Given the description of an element on the screen output the (x, y) to click on. 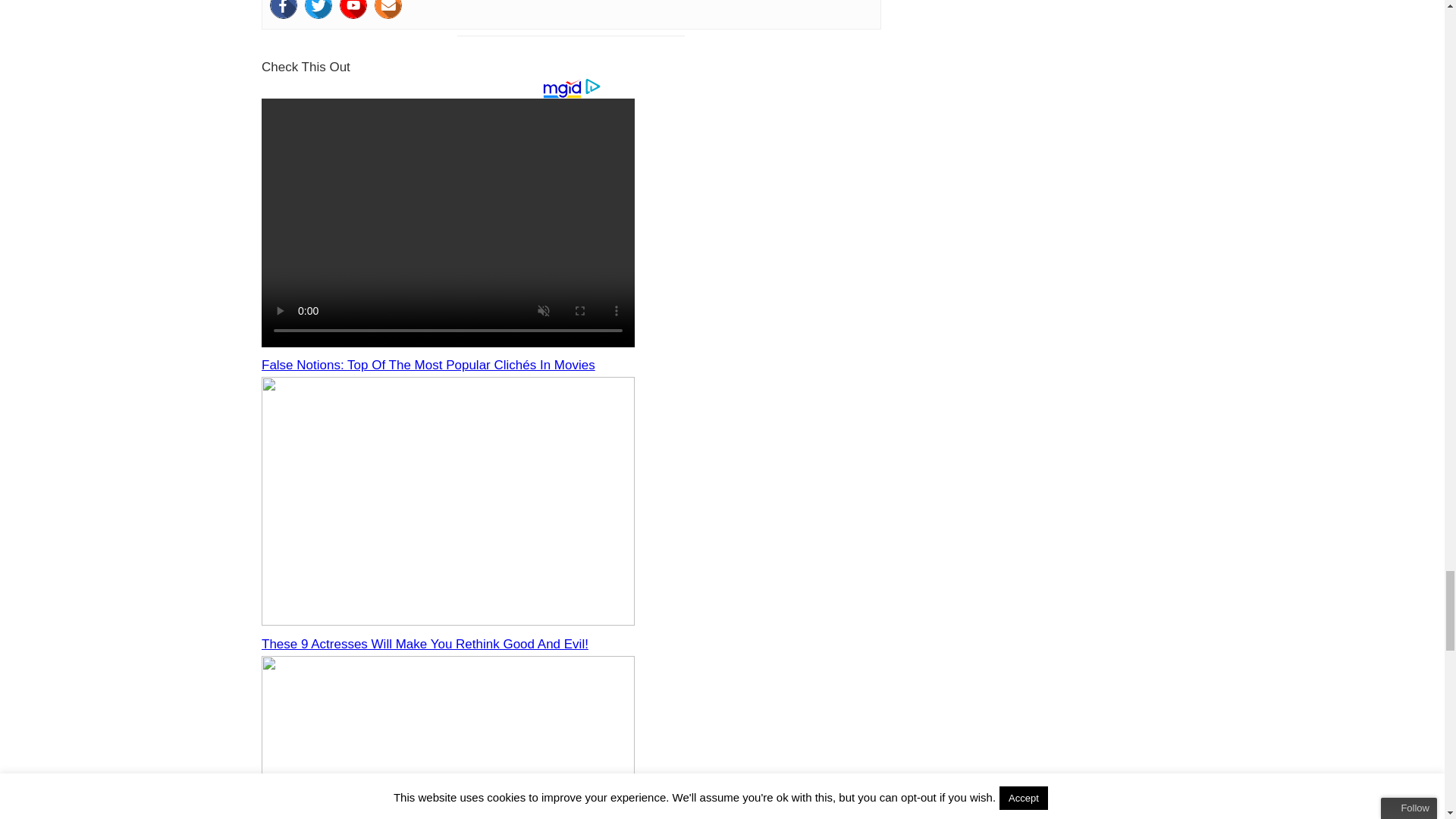
Twitter (317, 9)
User email (387, 9)
Facebook (283, 9)
Youtube (352, 9)
